Given the description of an element on the screen output the (x, y) to click on. 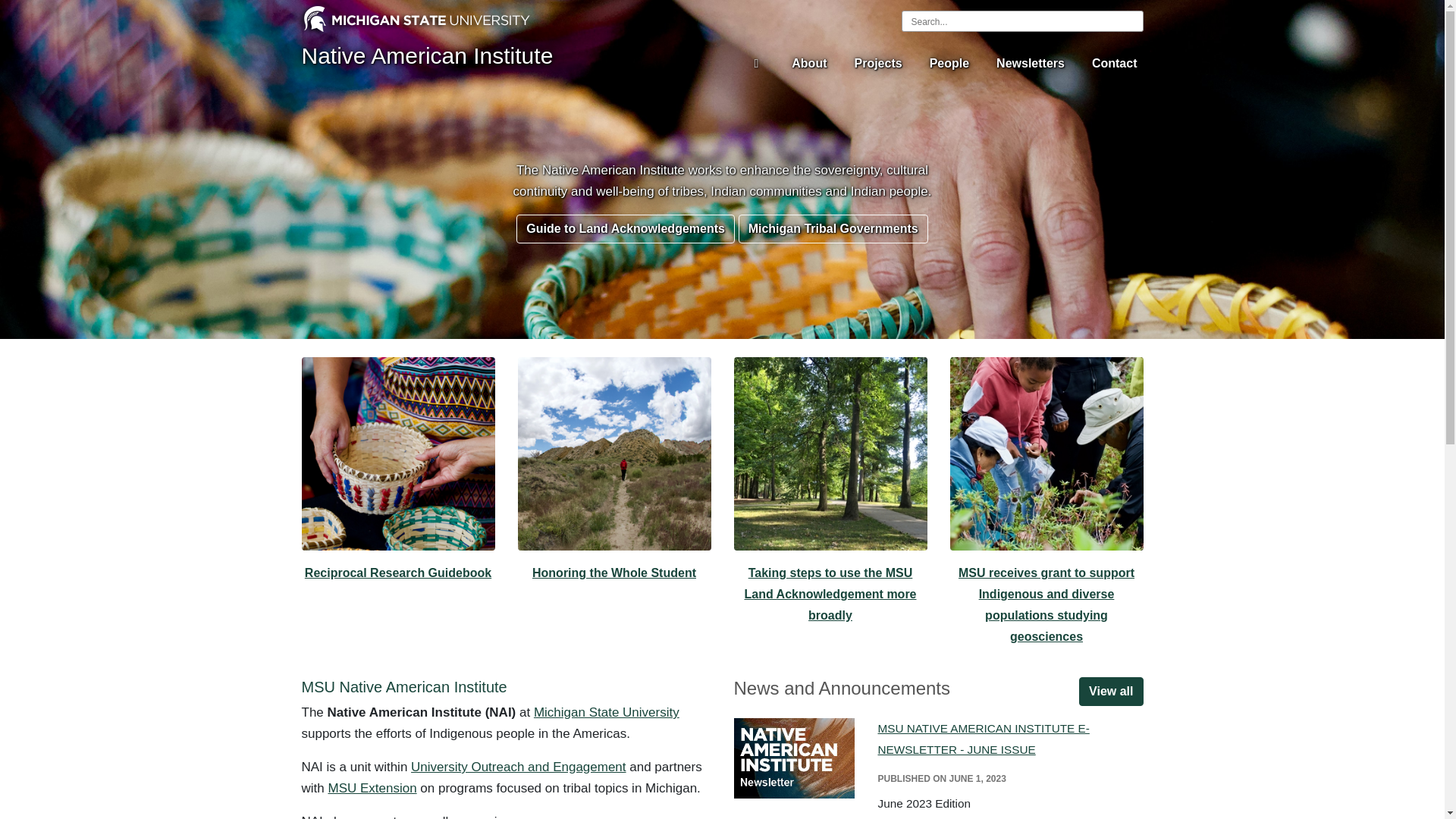
View all (1110, 691)
Native American Institute (427, 55)
Michigan Tribal Governments (833, 228)
Projects (877, 63)
Guide to Land Acknowledgements (625, 228)
People (949, 63)
Newsletters (1030, 63)
Michigan State University (606, 712)
MSU Extension (371, 788)
Contact (1114, 63)
Honoring the Whole Student (613, 572)
Reciprocal Research Guidebook (398, 572)
About (809, 63)
